Given the description of an element on the screen output the (x, y) to click on. 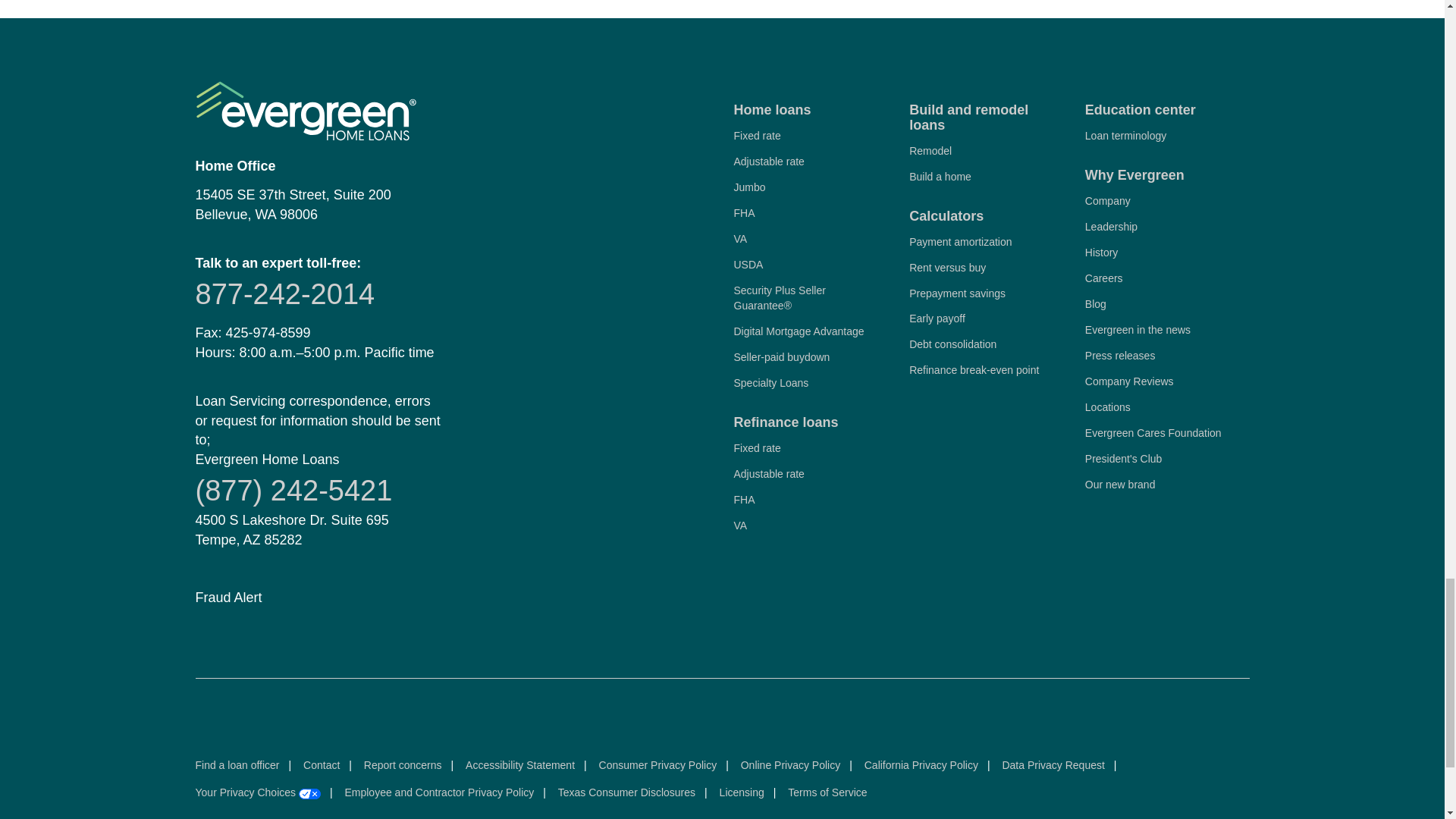
Fraud Alert (228, 597)
